Given the description of an element on the screen output the (x, y) to click on. 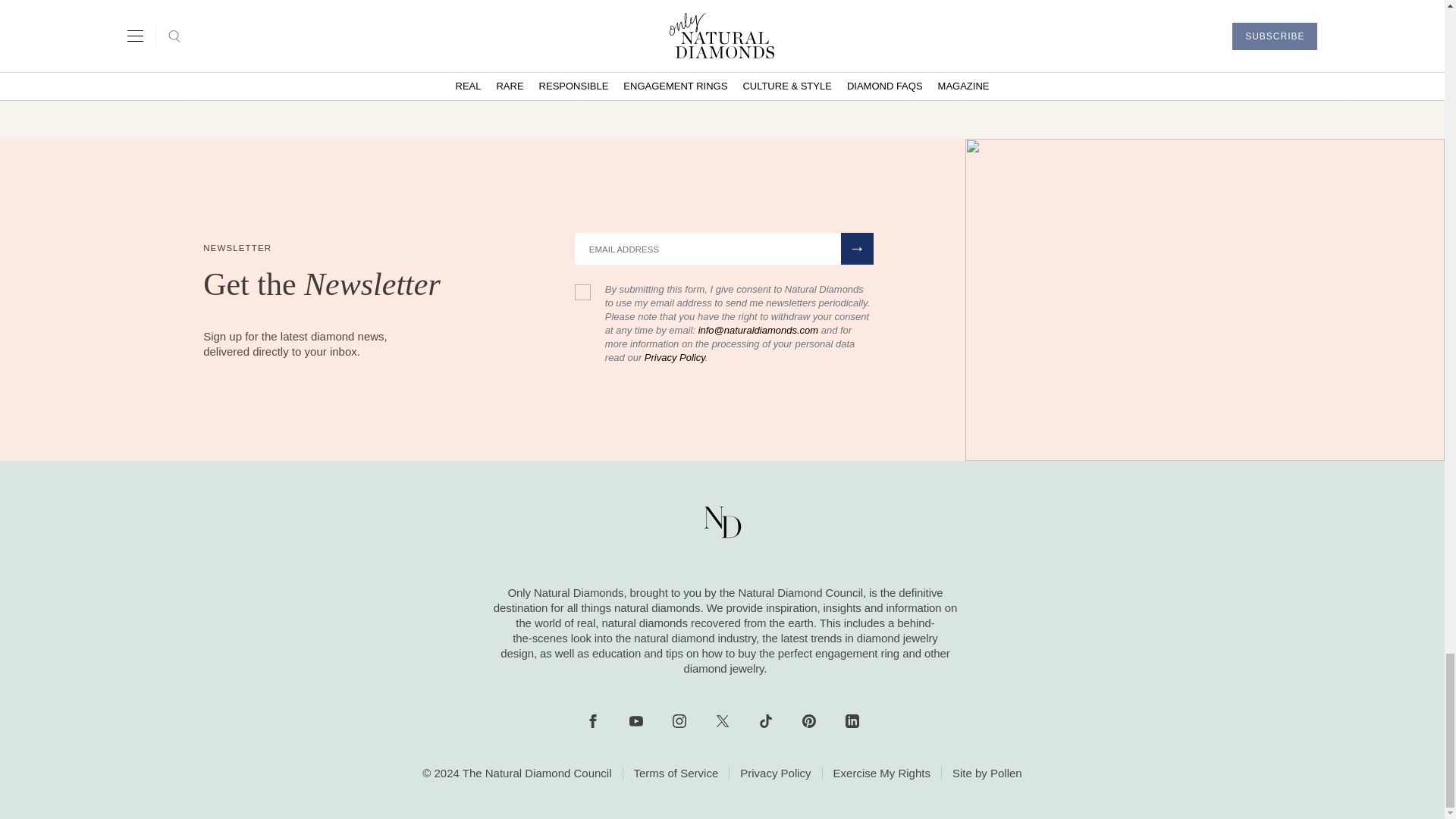
Diamond Stud Earrings For Every Day (267, 29)
The Ultimate Guide to Creating an Epic Diamond Ring Stack (1176, 37)
Diamond Jewelry For Men (873, 29)
3 Ways to Layer a Diamond Necklace (570, 29)
